Given the description of an element on the screen output the (x, y) to click on. 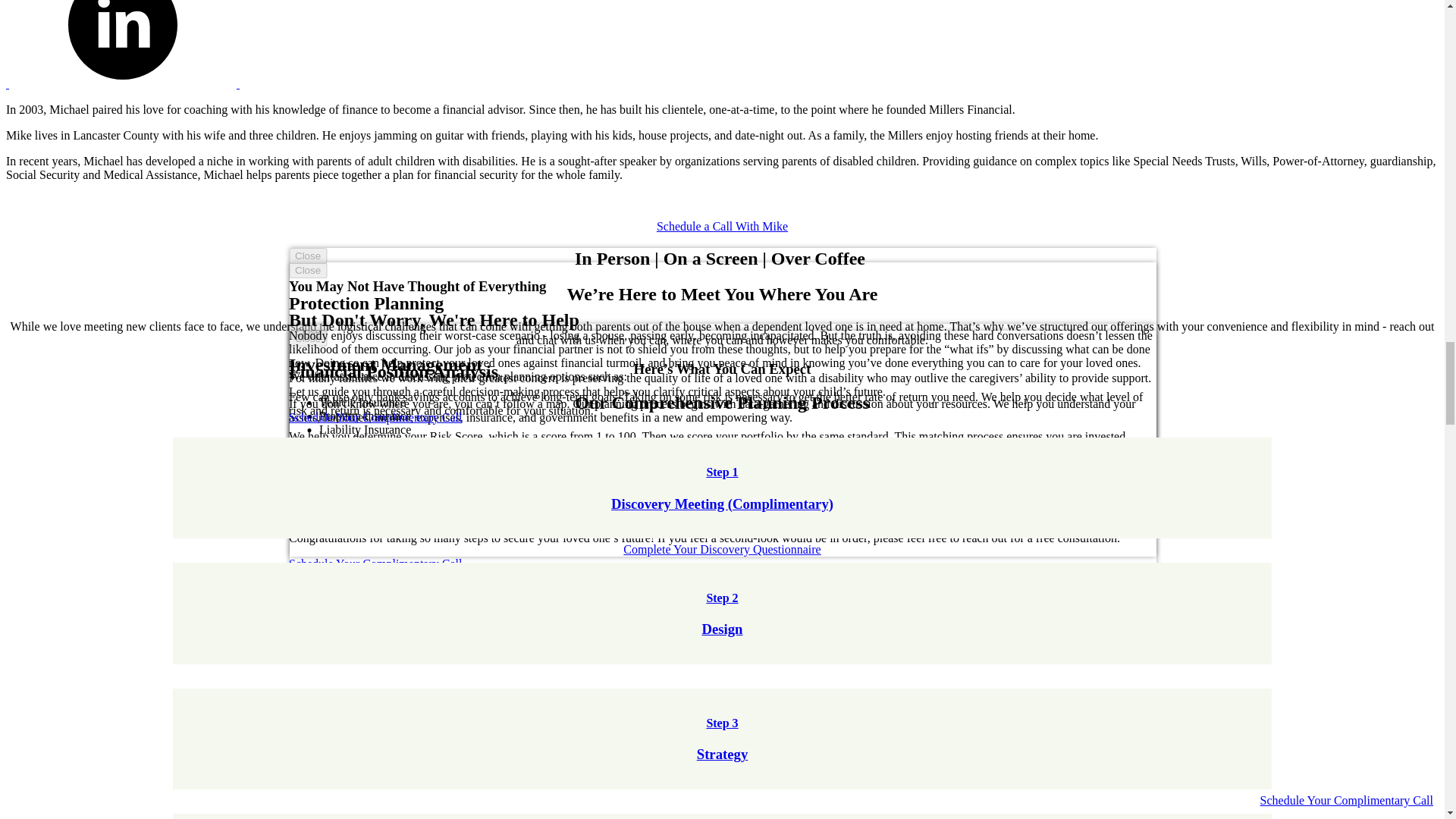
Schedule a Call With Mike (721, 612)
